Given the description of an element on the screen output the (x, y) to click on. 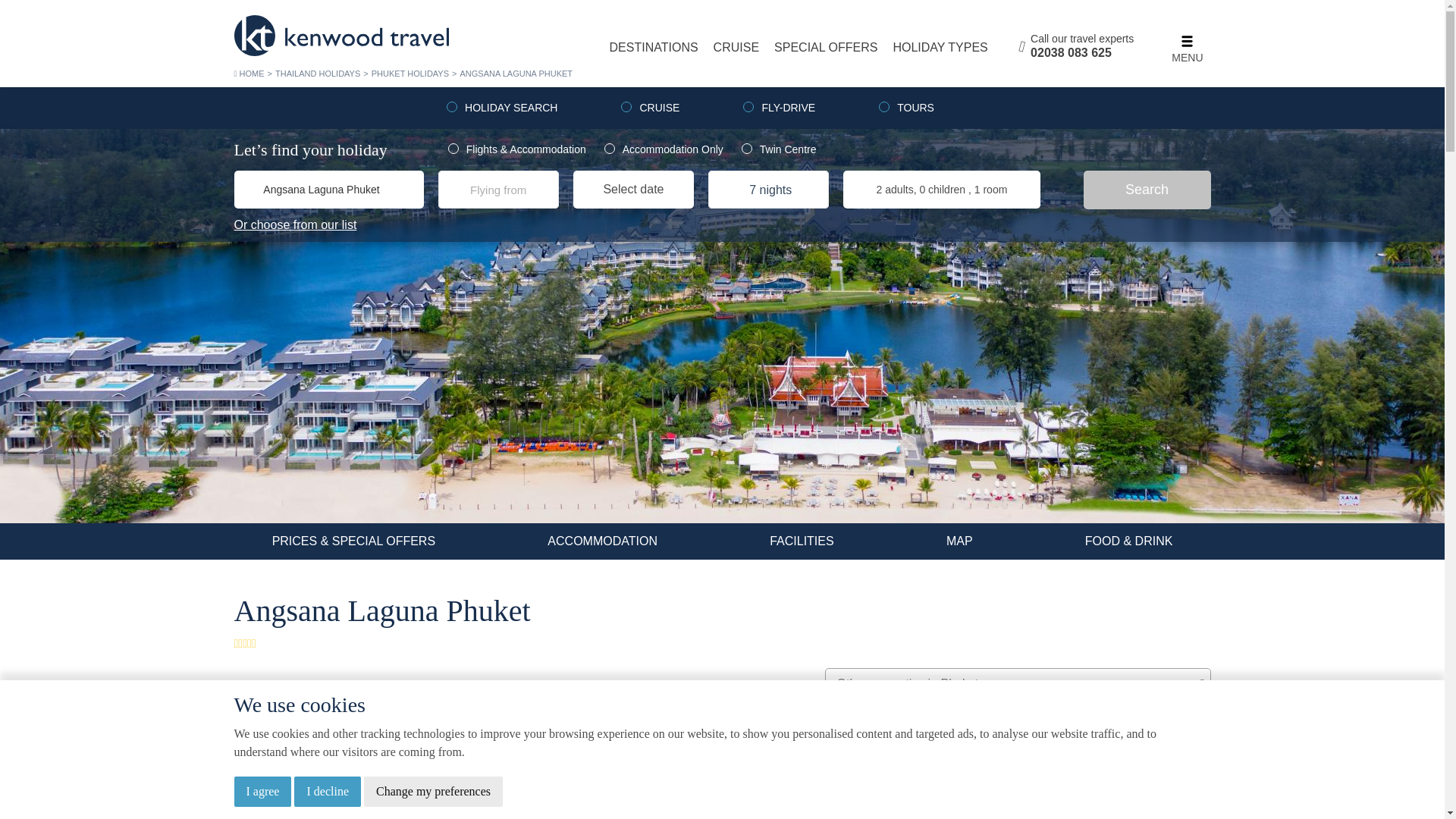
Change my preferences (433, 791)
I decline (327, 791)
DESTINATIONS (654, 47)
I agree (261, 791)
ANGSANA LAGUNA PHUKET (516, 73)
HOME (247, 73)
PHUKET HOLIDAYS (409, 73)
THAILAND HOLIDAYS (317, 73)
